Given the description of an element on the screen output the (x, y) to click on. 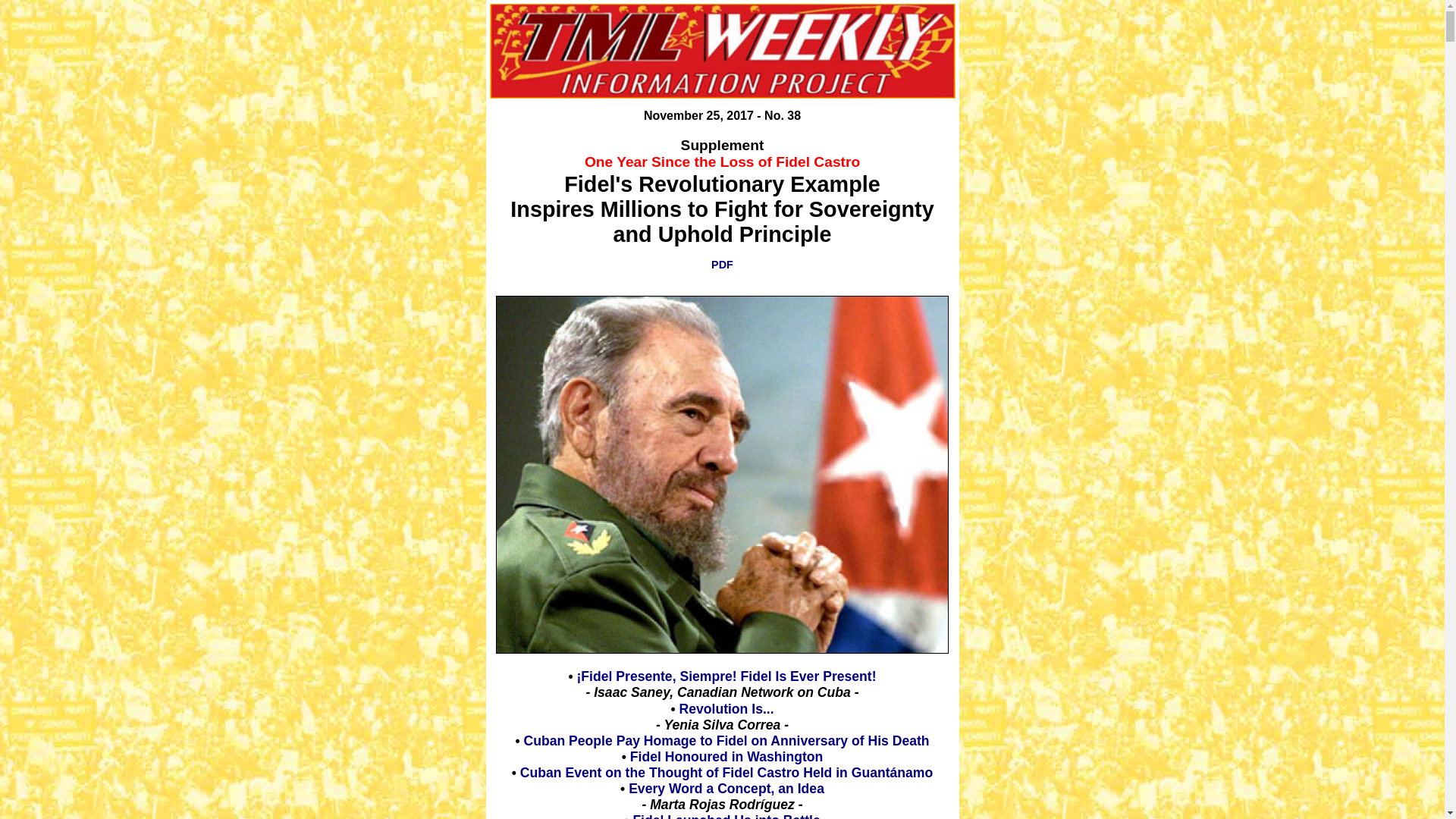
Every Word a Concept, an Idea (726, 788)
Fidel Launched Us into Battle (725, 816)
Fidel Honoured in Washington (726, 756)
Cuban People Pay Homage to Fidel on Anniversary of His Death (725, 740)
PDF (722, 264)
One Year Since the Loss of Fidel Castro (722, 169)
Revolution Is... (725, 708)
